Given the description of an element on the screen output the (x, y) to click on. 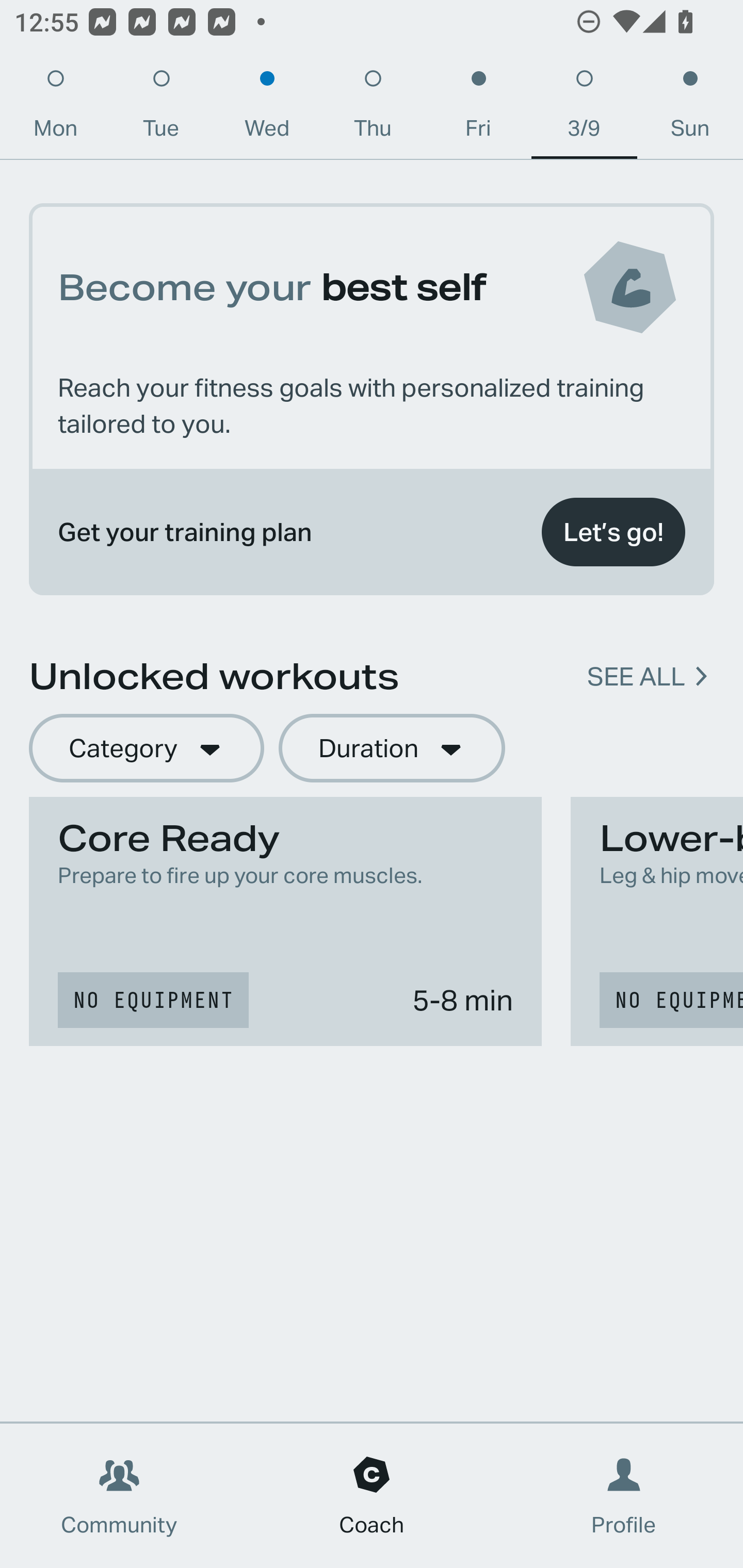
Mon (55, 108)
Tue (160, 108)
Wed (266, 108)
Thu (372, 108)
Fri (478, 108)
3/9 (584, 108)
Sun (690, 108)
Let’s go! (613, 532)
SEE ALL (635, 676)
Category (146, 748)
Duration (391, 748)
Community (119, 1495)
Profile (624, 1495)
